Given the description of an element on the screen output the (x, y) to click on. 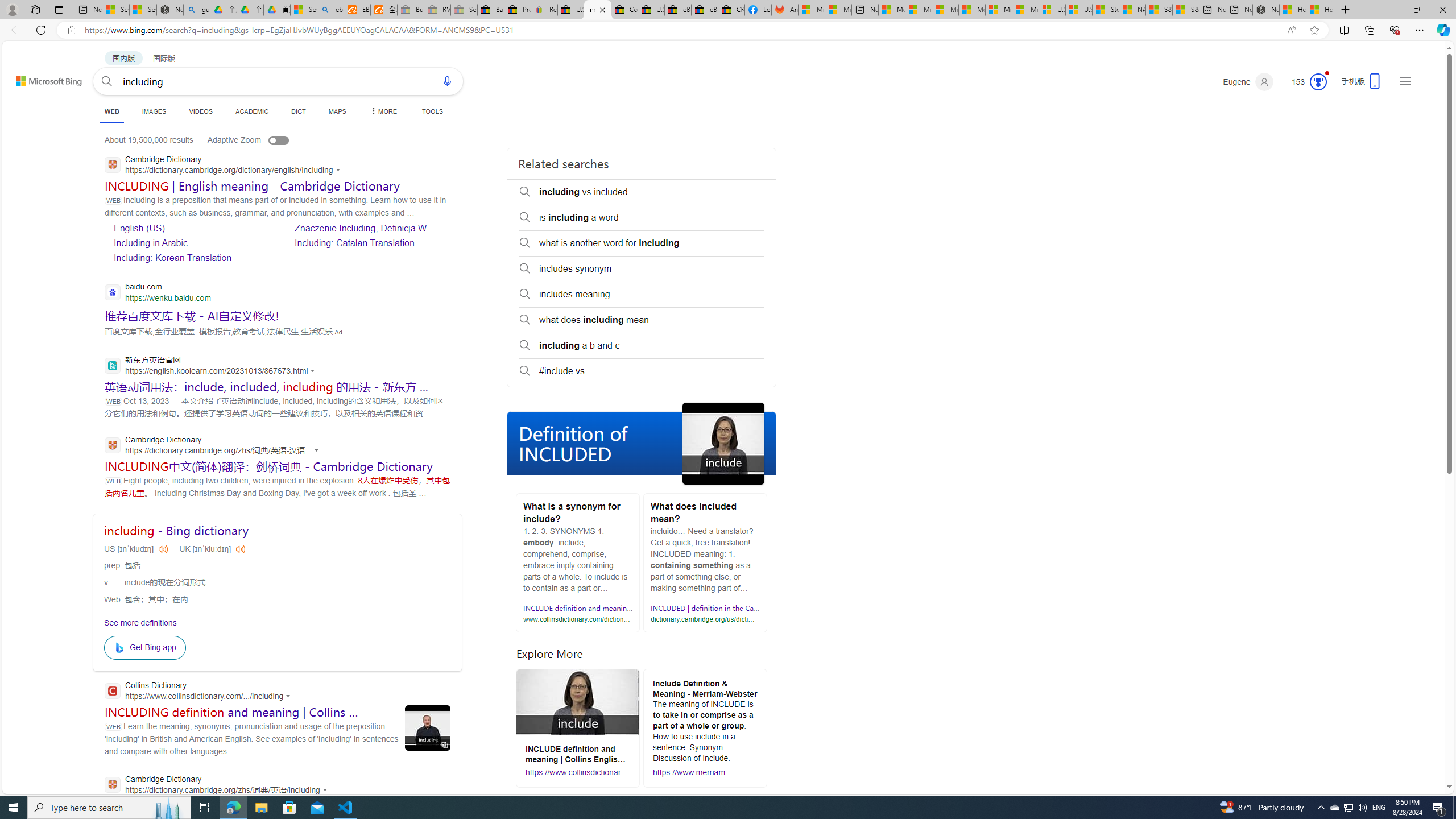
Consumer Health Data Privacy Policy - eBay Inc. (623, 9)
MORE (382, 111)
INCLUDING | English meaning - Cambridge Dictionary (252, 185)
Baby Keepsakes & Announcements for sale | eBay (491, 9)
INCLUDED | definition in the Cambridge English (728, 607)
